Given the description of an element on the screen output the (x, y) to click on. 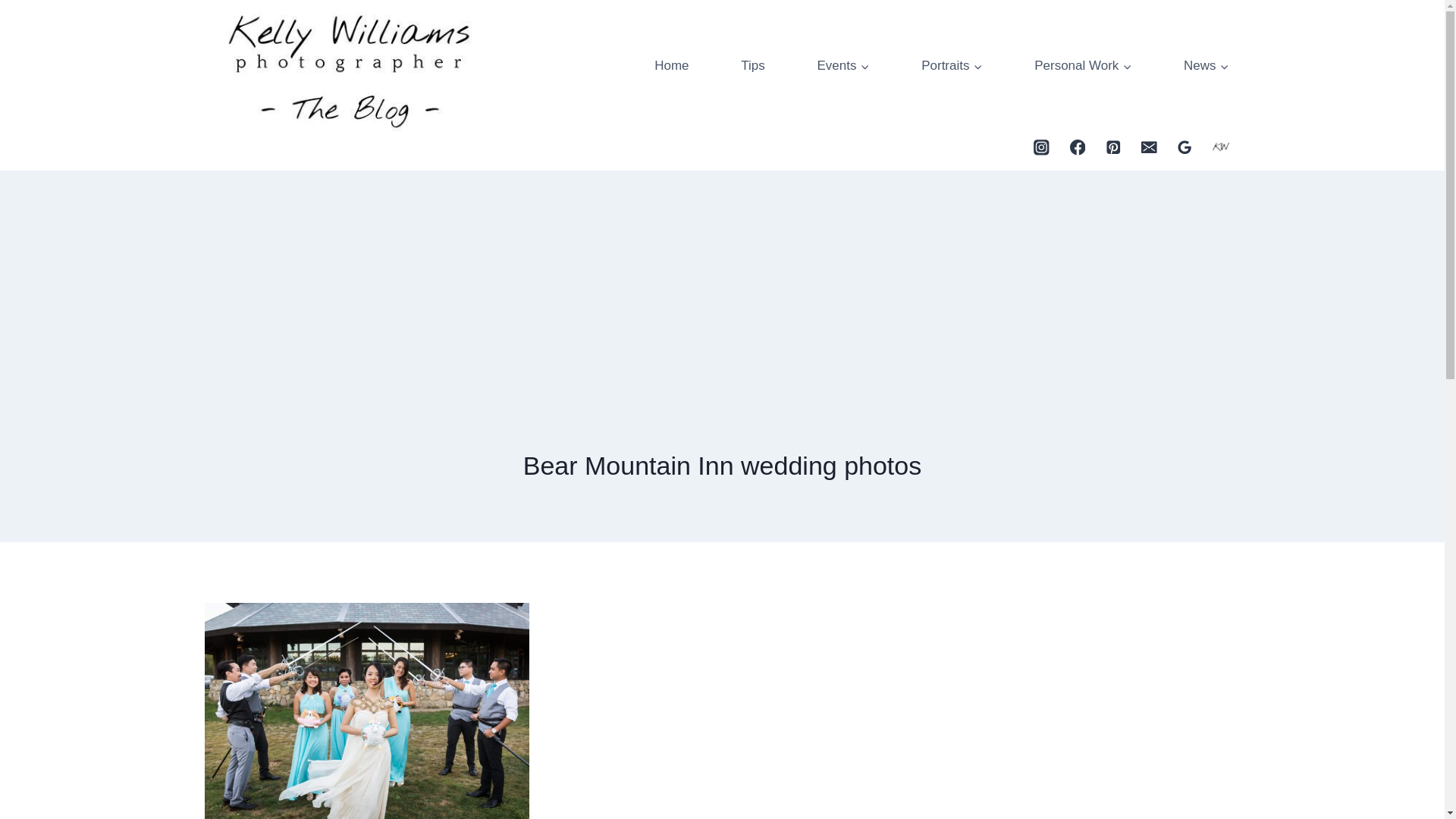
Tips (752, 65)
Home (671, 65)
News (1206, 65)
Portraits (951, 65)
Personal Work (1082, 65)
Events (843, 65)
